Given the description of an element on the screen output the (x, y) to click on. 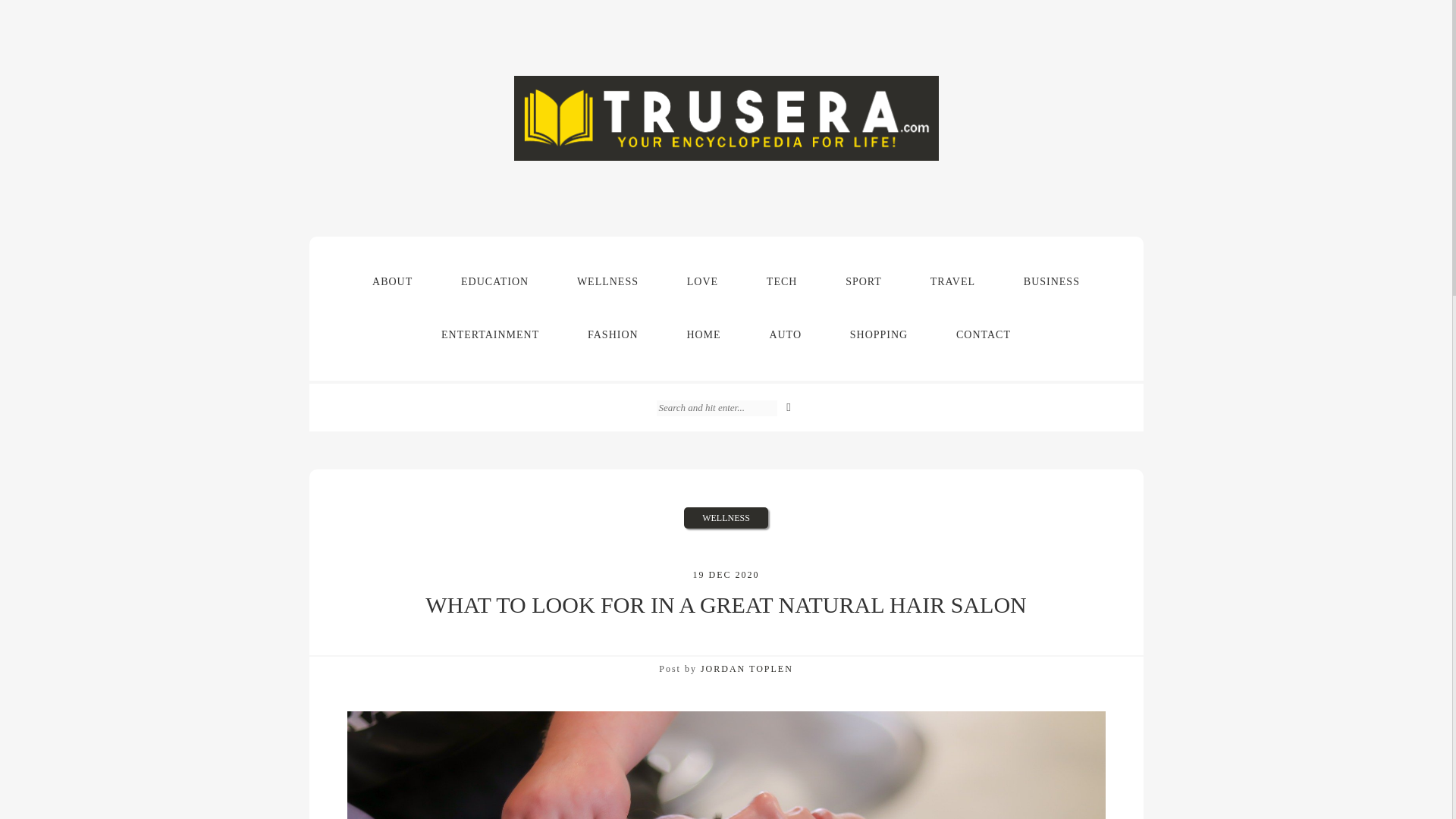
LOVE (702, 281)
AUTO (784, 334)
HOME (702, 334)
SHOPPING (878, 334)
JORDAN TOPLEN (746, 668)
WELLNESS (607, 281)
BUSINESS (1051, 281)
ENTERTAINMENT (490, 334)
SPORT (863, 281)
TRAVEL (952, 281)
